Given the description of an element on the screen output the (x, y) to click on. 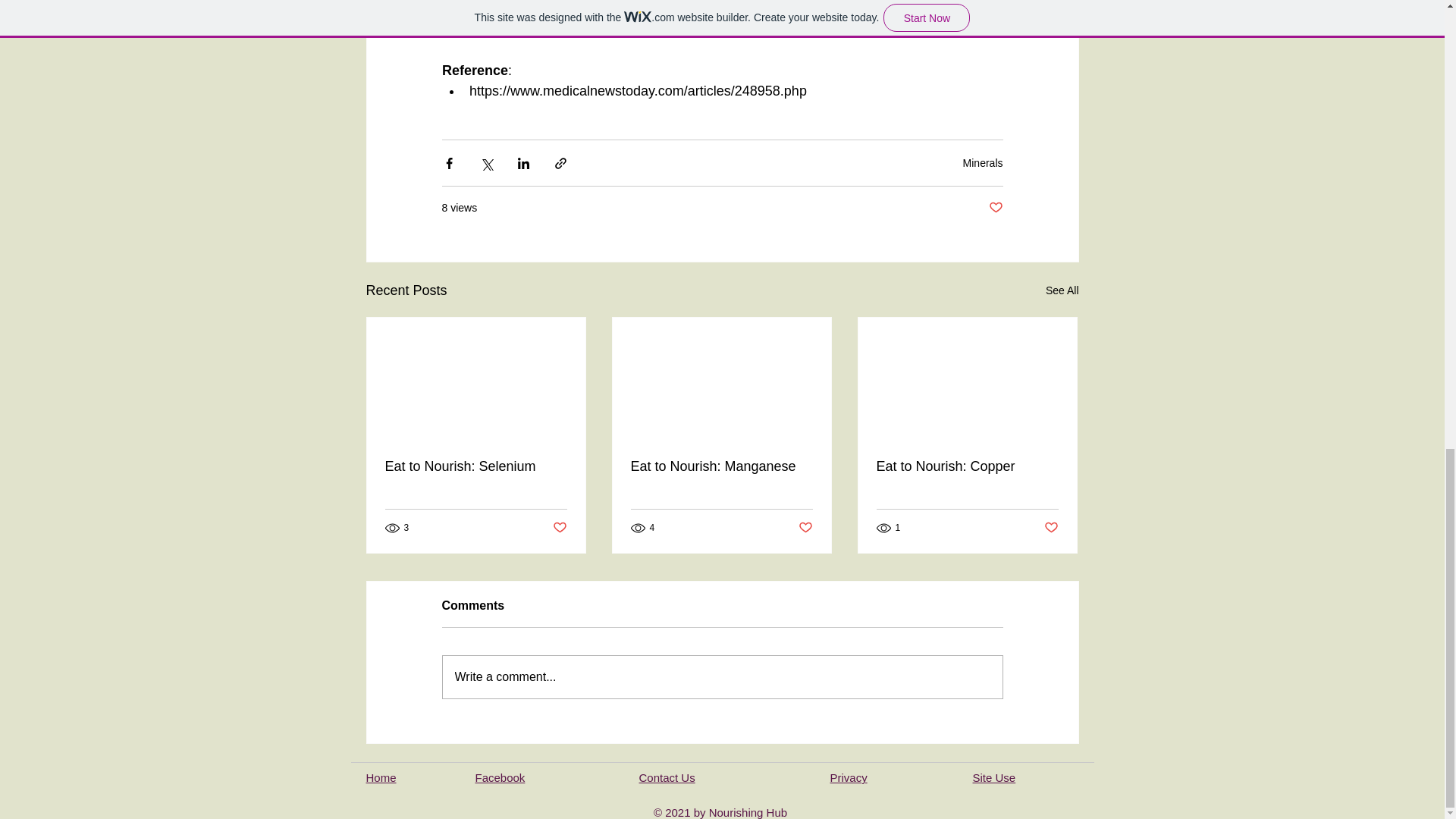
See All (1061, 291)
Privacy (847, 777)
Post not marked as liked (995, 207)
Home (380, 777)
Eat to Nourish: Copper (967, 466)
Eat to Nourish: Selenium (476, 466)
Facebook (499, 777)
Post not marked as liked (1050, 527)
Minerals (982, 162)
Contact Us (666, 777)
Post not marked as liked (804, 527)
Site Use (993, 777)
Write a comment... (722, 677)
Eat to Nourish: Manganese (721, 466)
Post not marked as liked (558, 527)
